Given the description of an element on the screen output the (x, y) to click on. 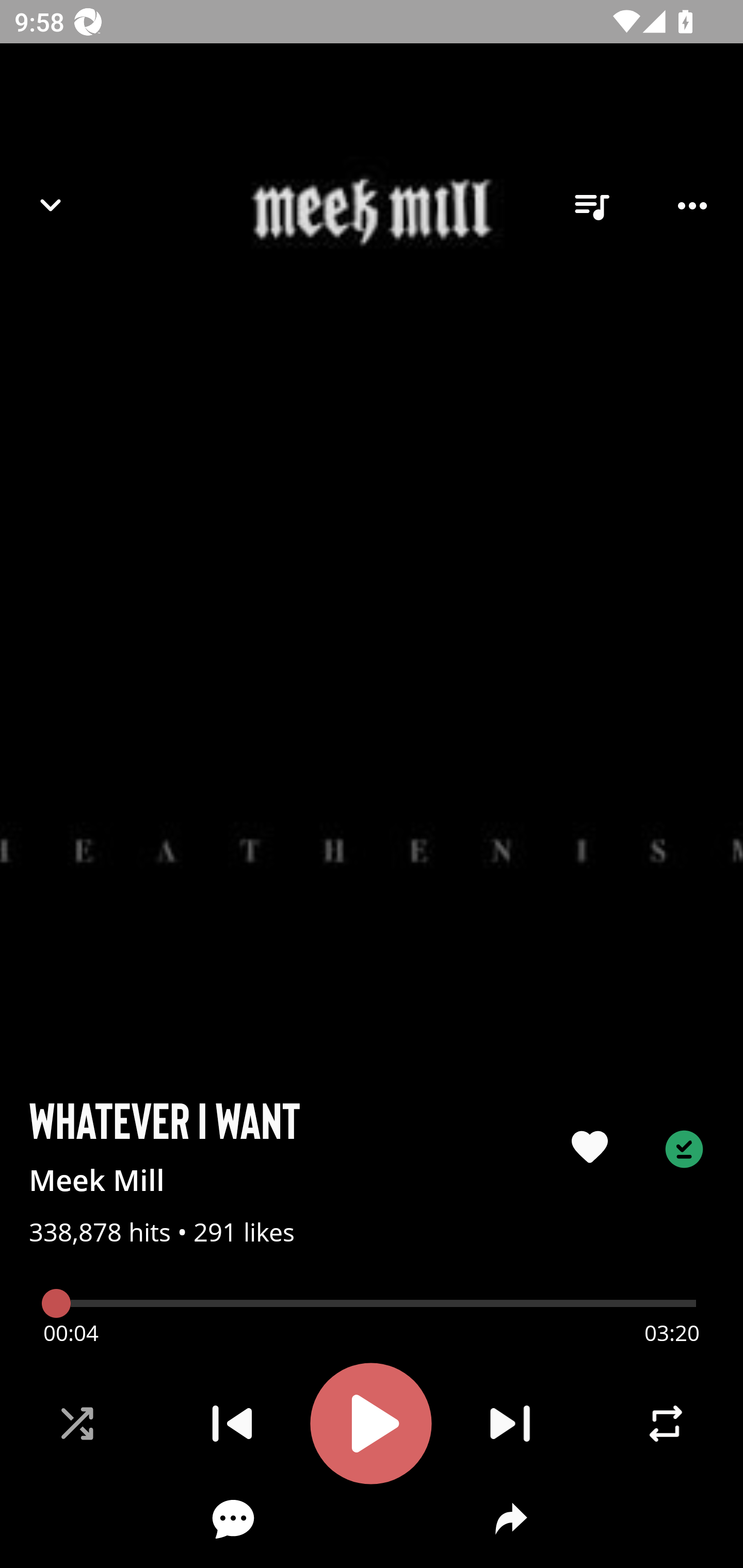
Navigate up (50, 205)
queue (590, 206)
Player options (692, 206)
